Given the description of an element on the screen output the (x, y) to click on. 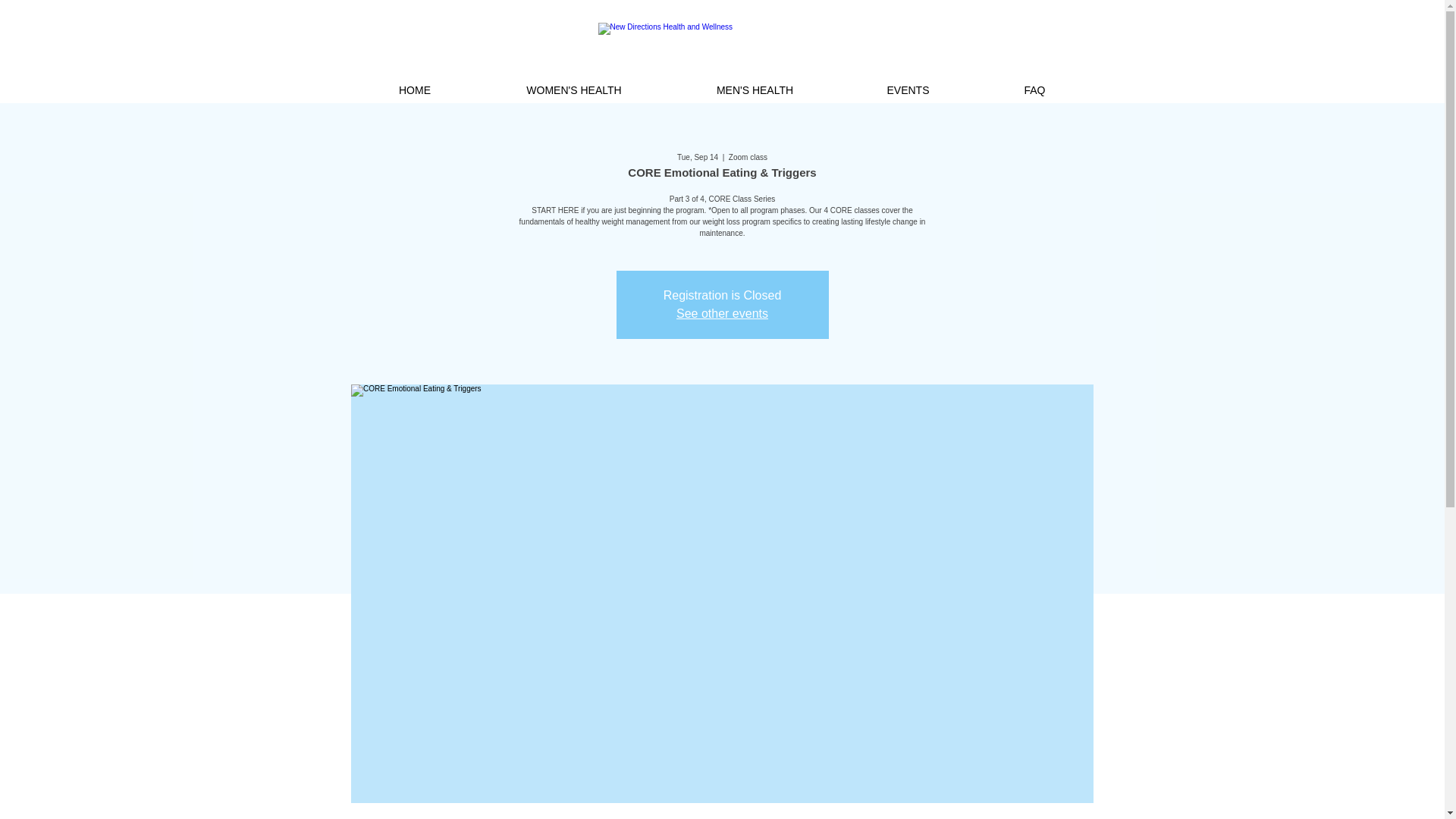
See other events (722, 313)
MEN'S HEALTH (754, 89)
New Directions Health and Wellness (720, 48)
EVENTS (907, 89)
HOME (414, 89)
FAQ (1034, 89)
WOMEN'S HEALTH (574, 89)
